Given the description of an element on the screen output the (x, y) to click on. 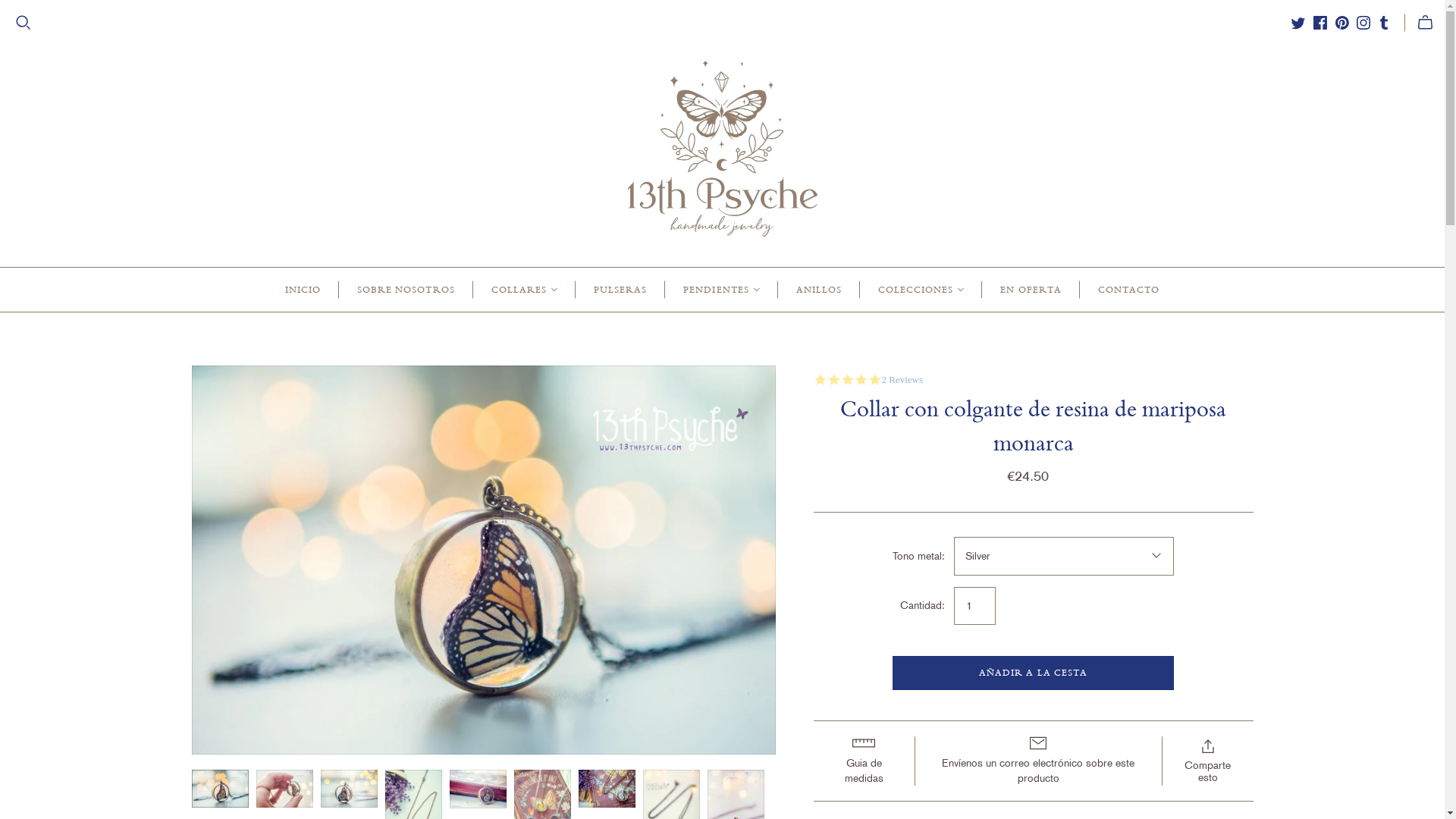
INICIO Element type: text (302, 288)
EN OFERTA Element type: text (1030, 288)
ANILLOS Element type: text (818, 288)
COLECCIONES Element type: text (920, 288)
Comparte esto Element type: text (1207, 761)
SOBRE NOSOTROS Element type: text (405, 288)
2 Reviews Element type: text (901, 379)
PENDIENTES Element type: text (721, 288)
PULSERAS Element type: text (620, 288)
CONTACTO Element type: text (1128, 288)
COLLARES Element type: text (524, 288)
Guia de medidas Element type: text (862, 760)
